Given the description of an element on the screen output the (x, y) to click on. 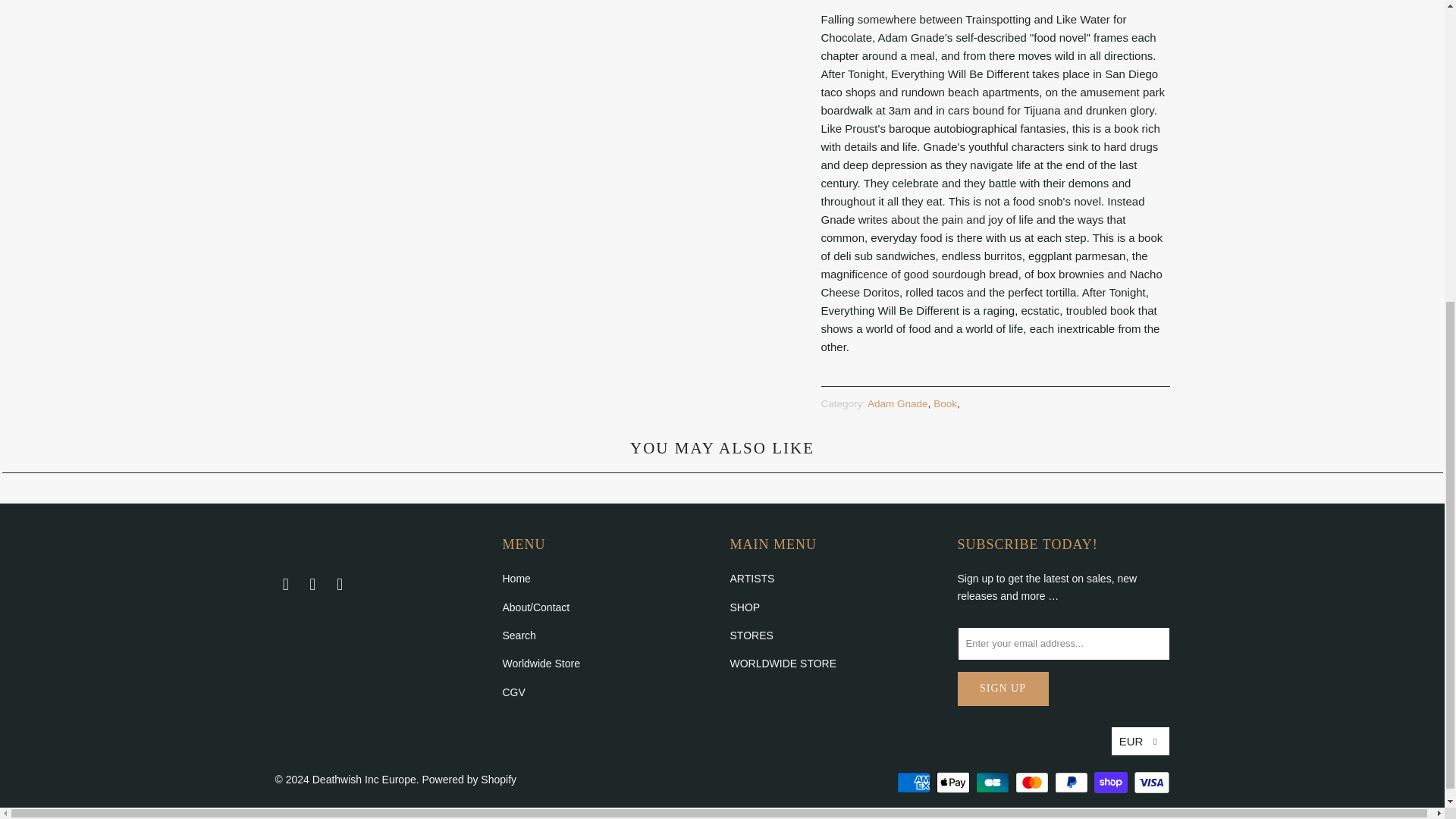
PayPal (1072, 782)
Products tagged Book (944, 403)
Apple Pay (954, 782)
Sign Up (1002, 688)
Deathwish Inc Europe on Instagram (340, 584)
Products tagged Adam Gnade (897, 403)
Deathwish Inc Europe on Facebook (312, 584)
Shop Pay (1112, 782)
Cartes Bancaires (993, 782)
Mastercard (1032, 782)
Visa (1150, 782)
Deathwish Inc Europe on Twitter (286, 584)
American Express (914, 782)
